Given the description of an element on the screen output the (x, y) to click on. 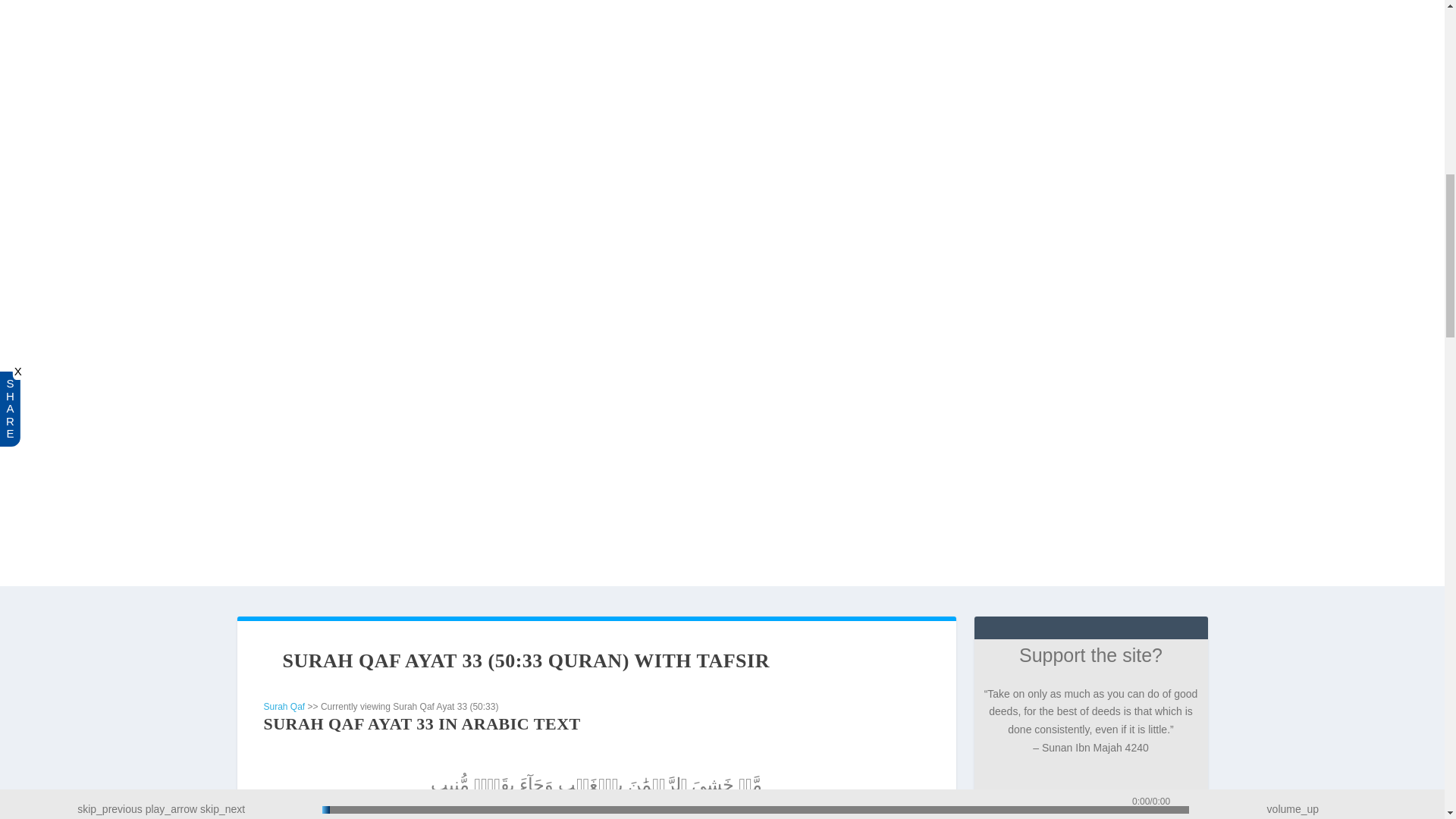
Surah Qaf (284, 706)
